Given the description of an element on the screen output the (x, y) to click on. 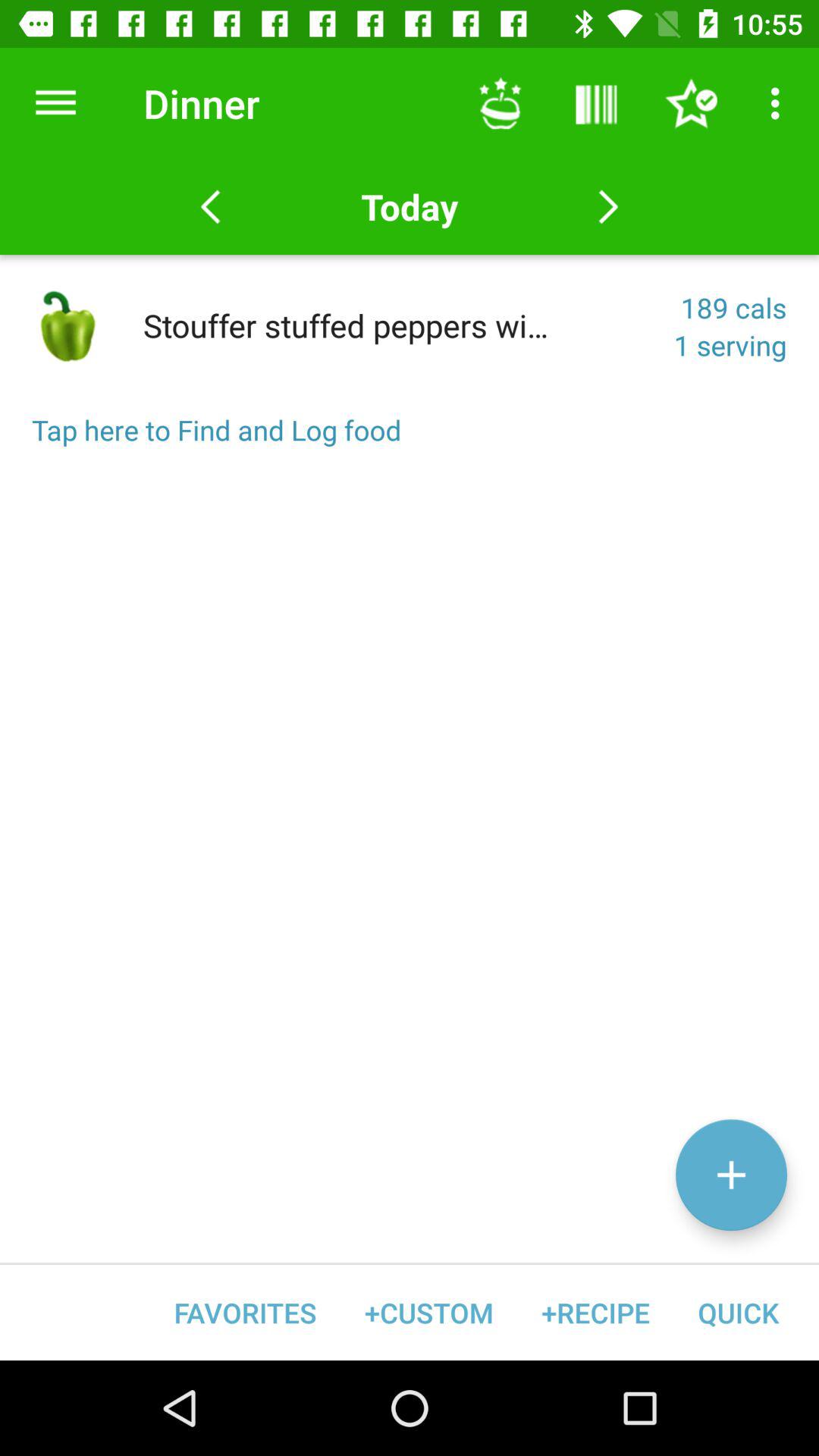
go to next (608, 206)
